Given the description of an element on the screen output the (x, y) to click on. 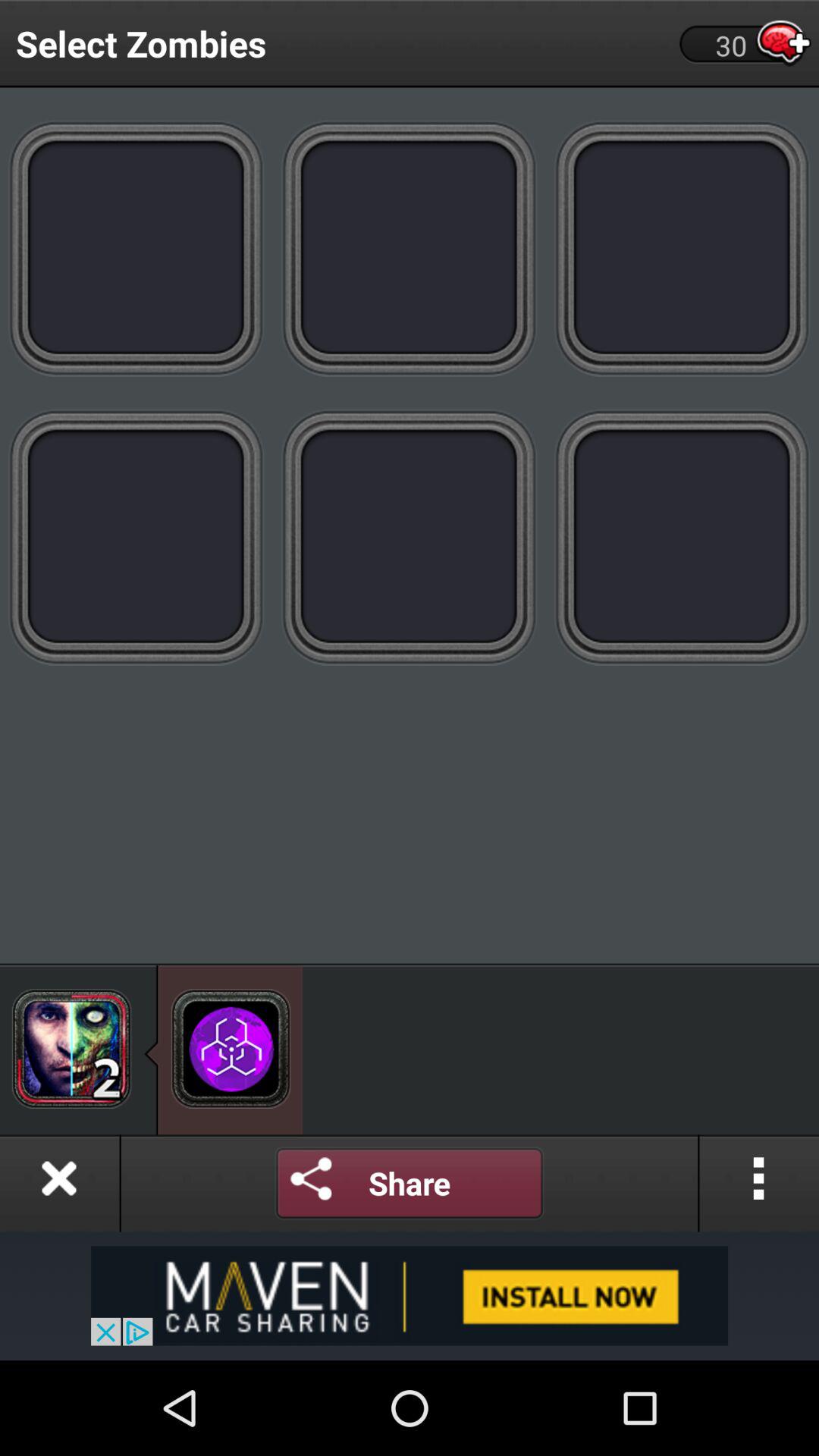
selection option (682, 247)
